Given the description of an element on the screen output the (x, y) to click on. 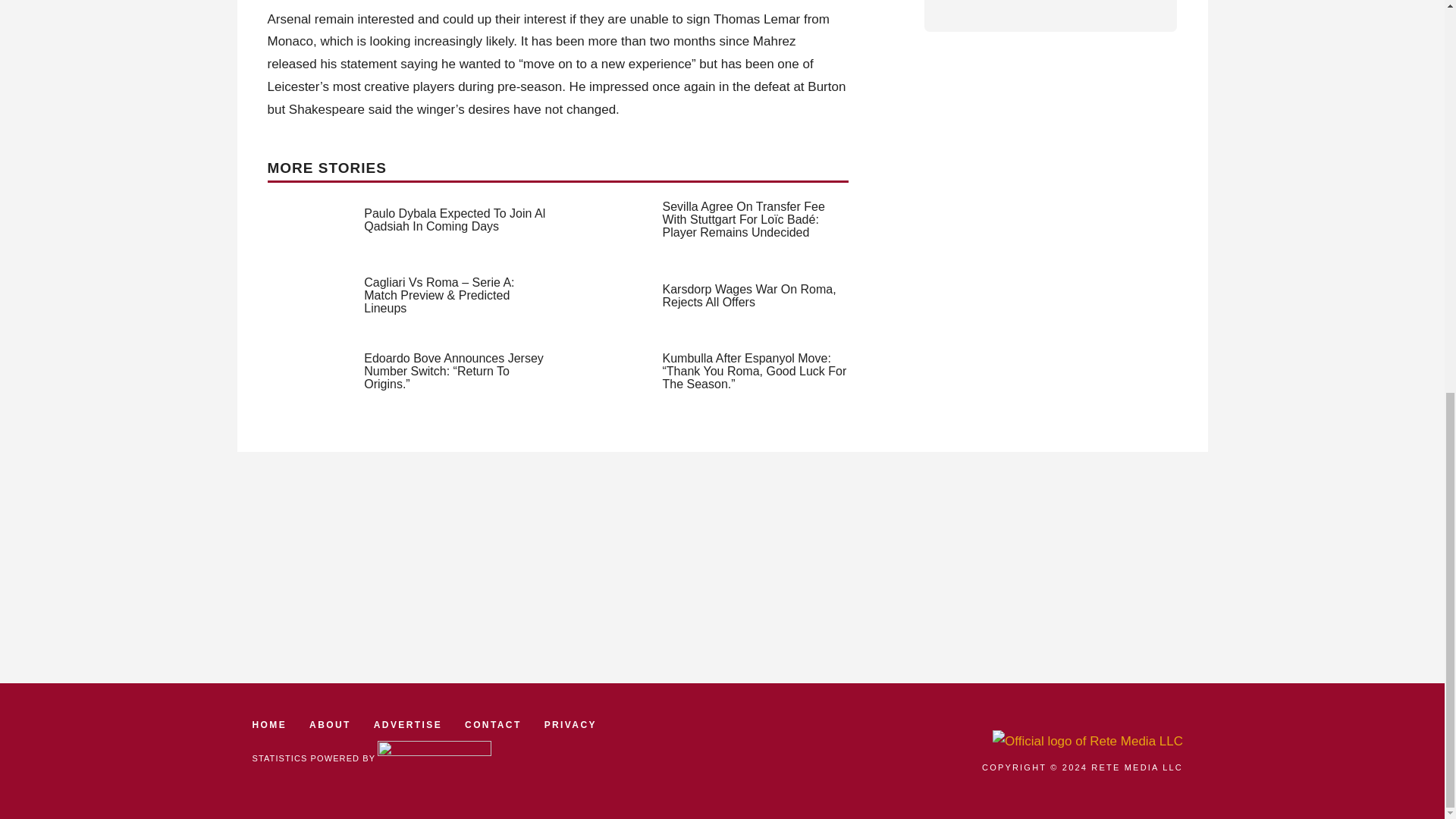
PRIVACY (570, 725)
HOME (268, 725)
Karsdorp Wages War On Roma, Rejects All Offers (748, 295)
ABOUT (329, 725)
CONTACT (492, 725)
Paulo Dybala Expected To Join Al Qadsiah In Coming Days (454, 219)
ADVERTISE (408, 725)
